Given the description of an element on the screen output the (x, y) to click on. 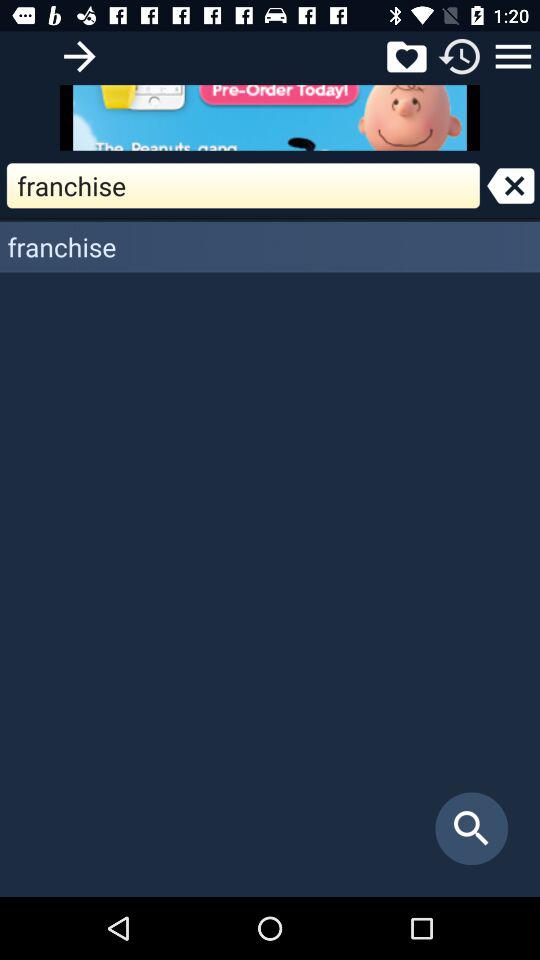
open the menu (513, 56)
